Given the description of an element on the screen output the (x, y) to click on. 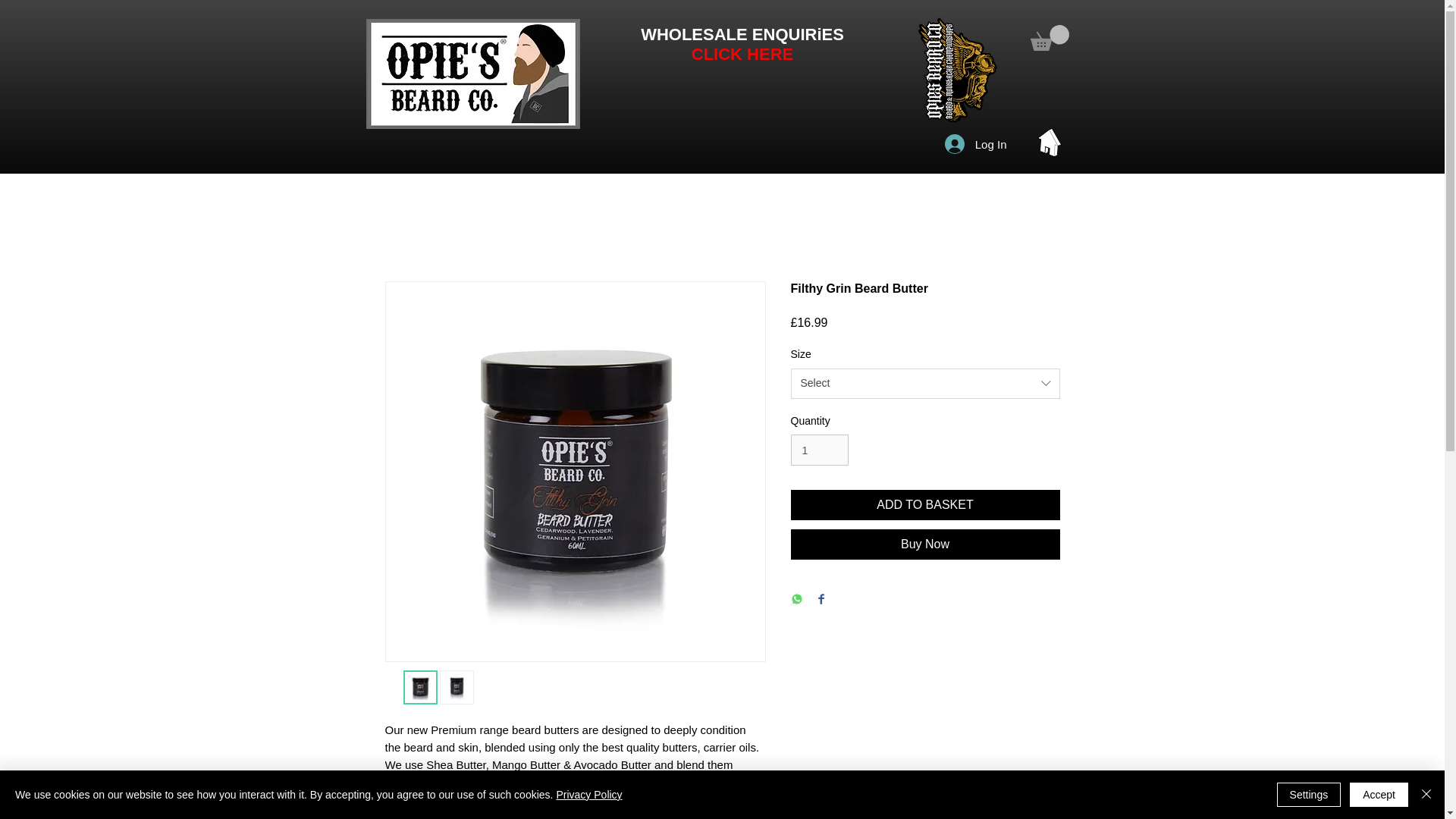
Settings (1308, 794)
Privacy Policy (588, 794)
1 (818, 450)
Select (924, 383)
Buy Now (924, 544)
CLICK HERE (742, 54)
Accept (1378, 794)
ADD TO BASKET (924, 504)
Log In (975, 143)
